Given the description of an element on the screen output the (x, y) to click on. 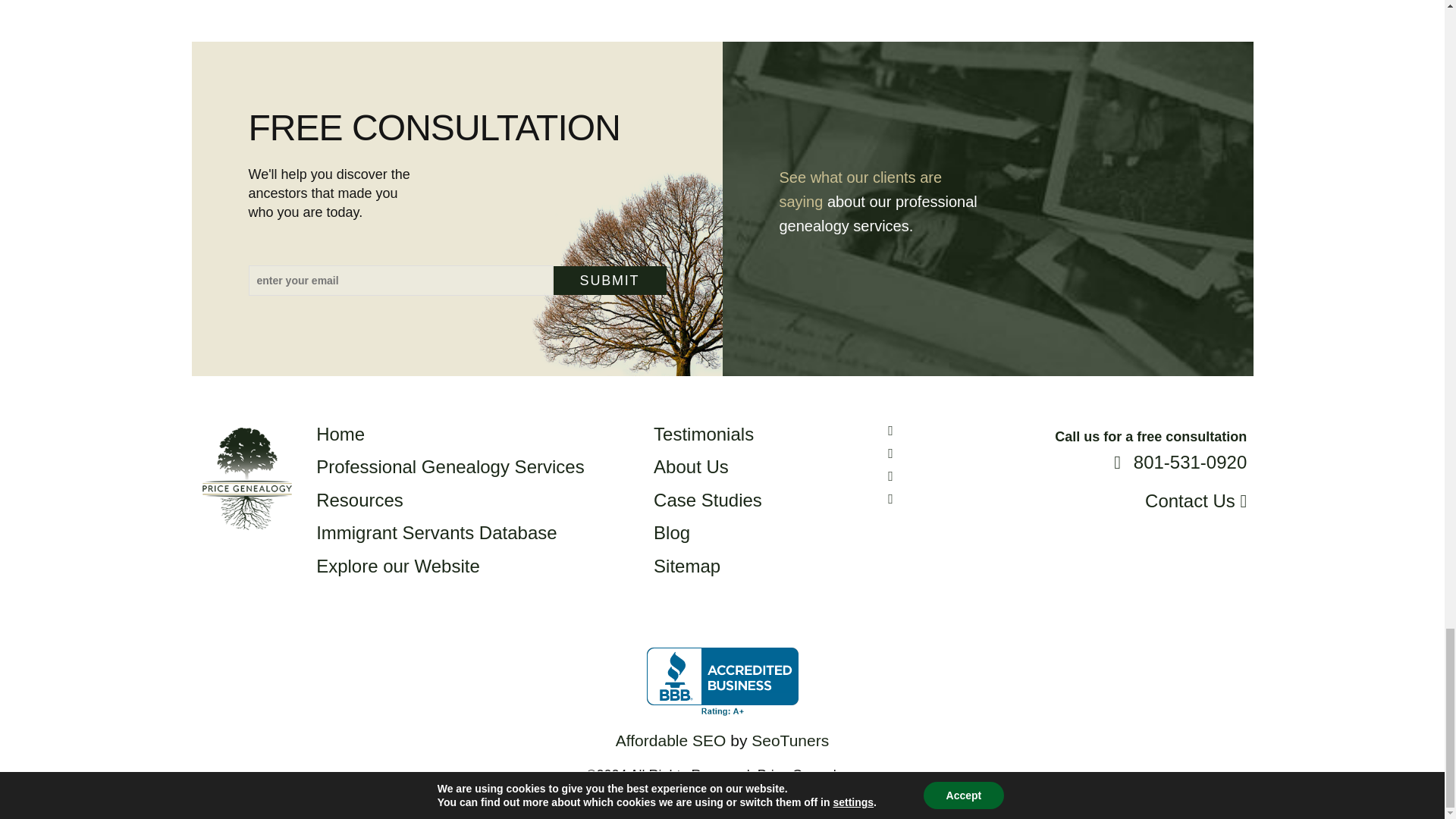
Submit (609, 280)
SiteCare (787, 793)
Home (340, 434)
Professional Genealogy Services (860, 188)
Submit (450, 466)
Resources (609, 280)
